Given the description of an element on the screen output the (x, y) to click on. 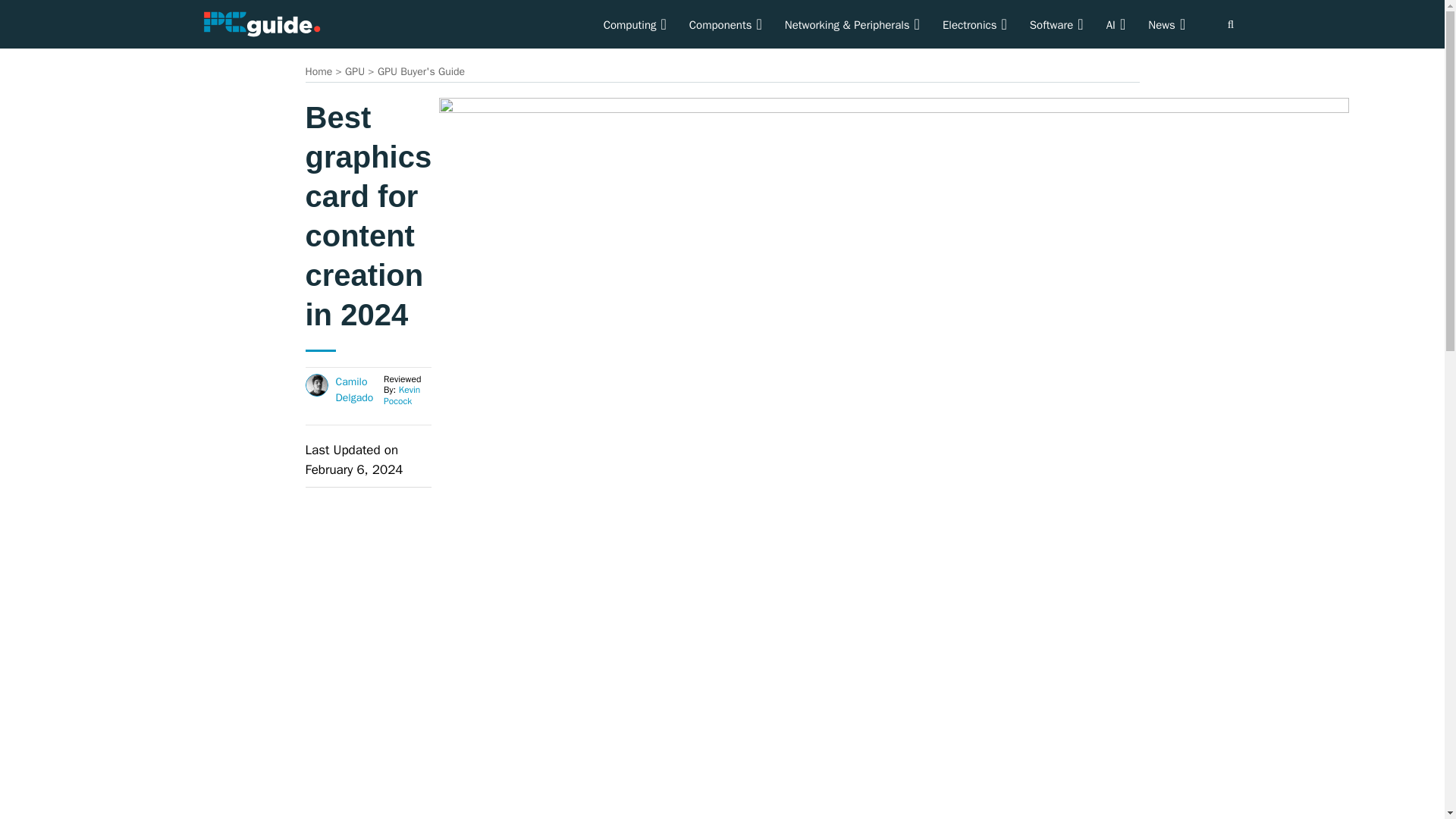
Computing (635, 23)
PC Guide (260, 23)
PC Guide (260, 23)
